Given the description of an element on the screen output the (x, y) to click on. 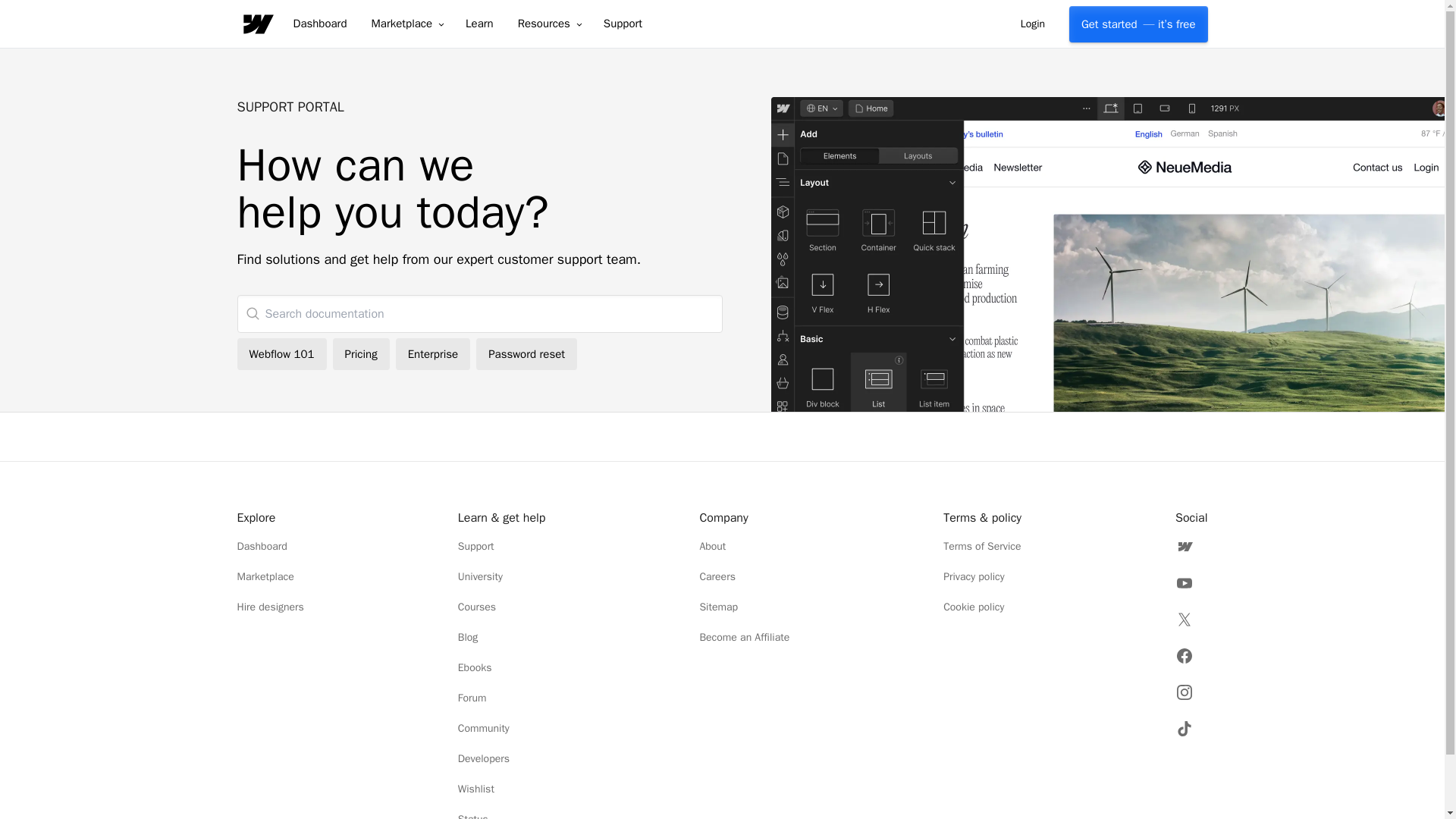
Terms of Service (982, 546)
Webflow 101 (280, 354)
Resources (548, 23)
Courses (502, 607)
Pricing (361, 354)
Support (623, 23)
Support (502, 546)
Login (1032, 24)
Enterprise (433, 354)
Privacy policy (982, 577)
